Given the description of an element on the screen output the (x, y) to click on. 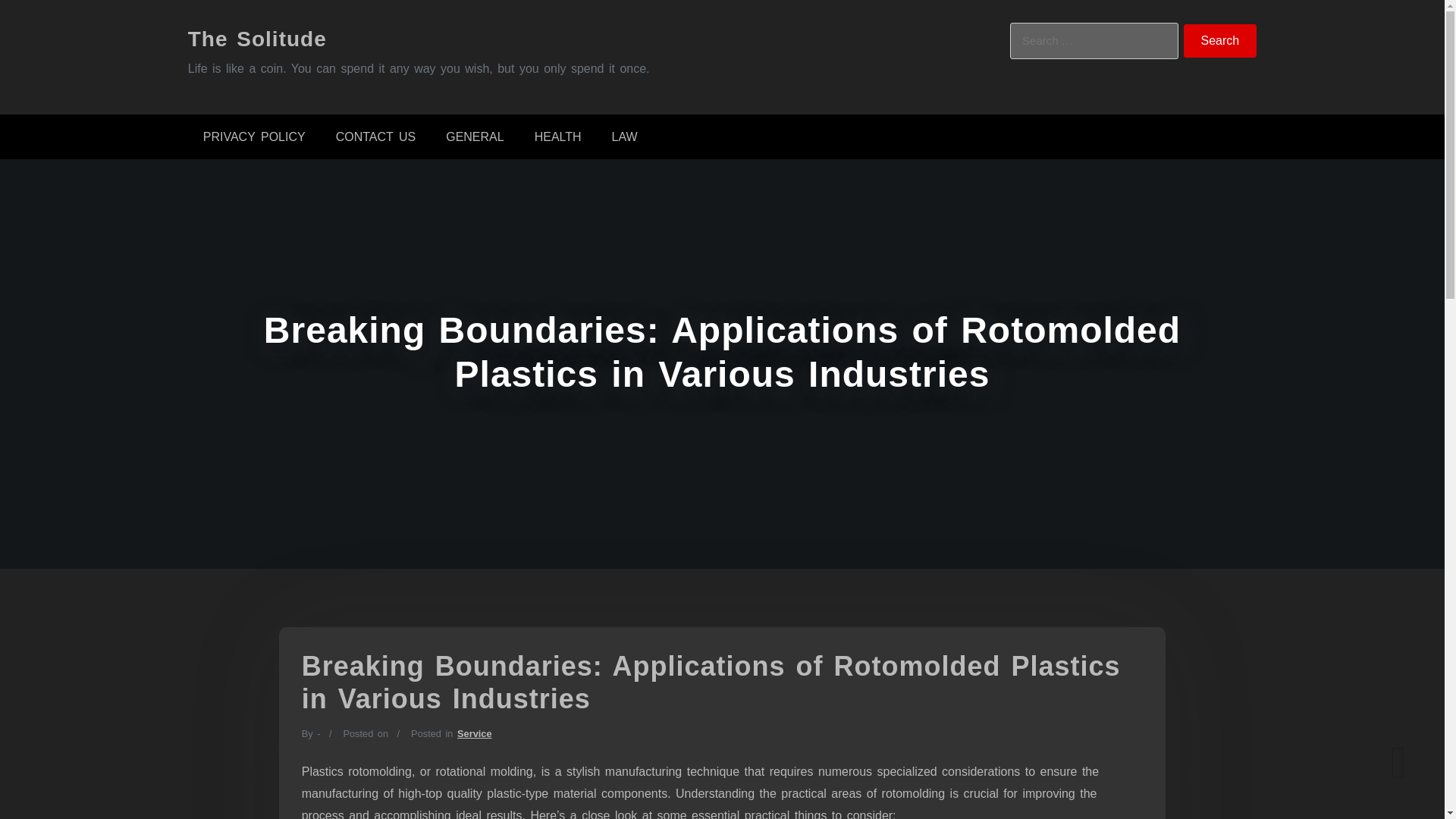
Service (474, 733)
Search (1220, 40)
CONTACT US (375, 136)
The Solitude (256, 38)
GENERAL (474, 136)
Search (1220, 40)
HEALTH (557, 136)
Search (1220, 40)
PRIVACY POLICY (253, 136)
LAW (624, 136)
